Given the description of an element on the screen output the (x, y) to click on. 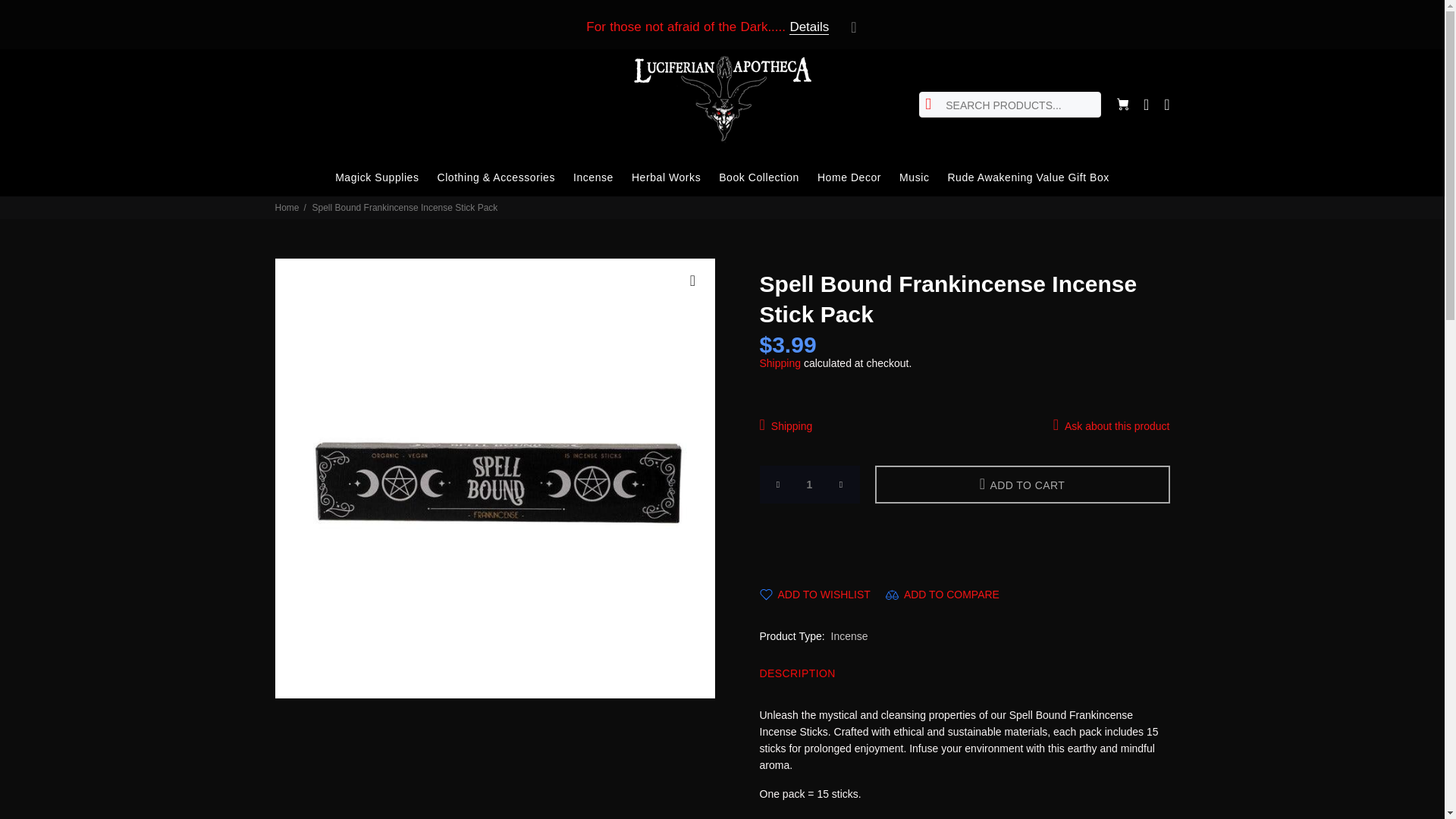
1 (810, 484)
